Given the description of an element on the screen output the (x, y) to click on. 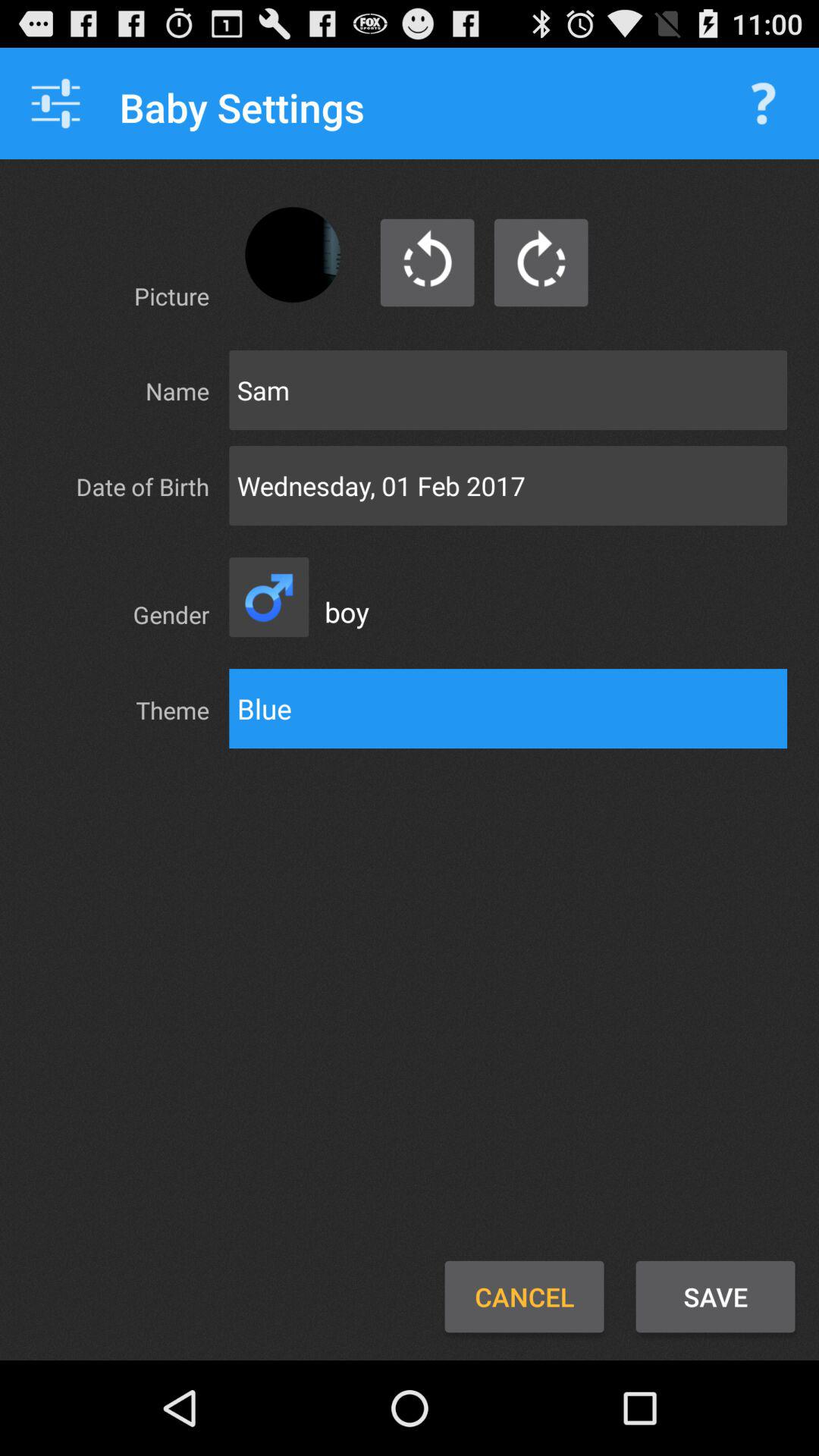
picture (292, 254)
